Given the description of an element on the screen output the (x, y) to click on. 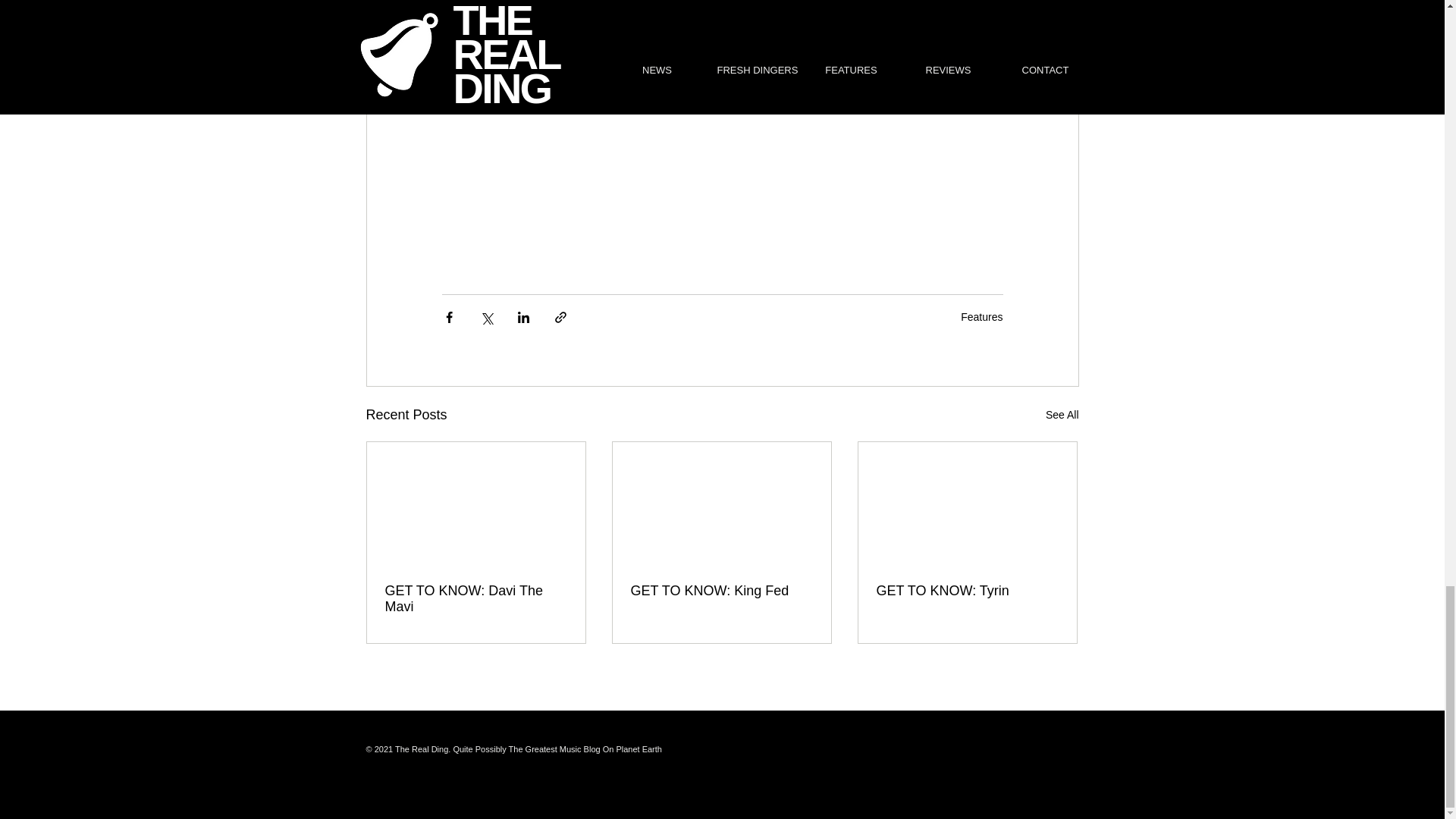
GET TO KNOW: Tyrin (967, 590)
GET TO KNOW: King Fed (721, 590)
GET TO KNOW: Davi The Mavi (476, 599)
See All (1061, 414)
Features (981, 316)
